Given the description of an element on the screen output the (x, y) to click on. 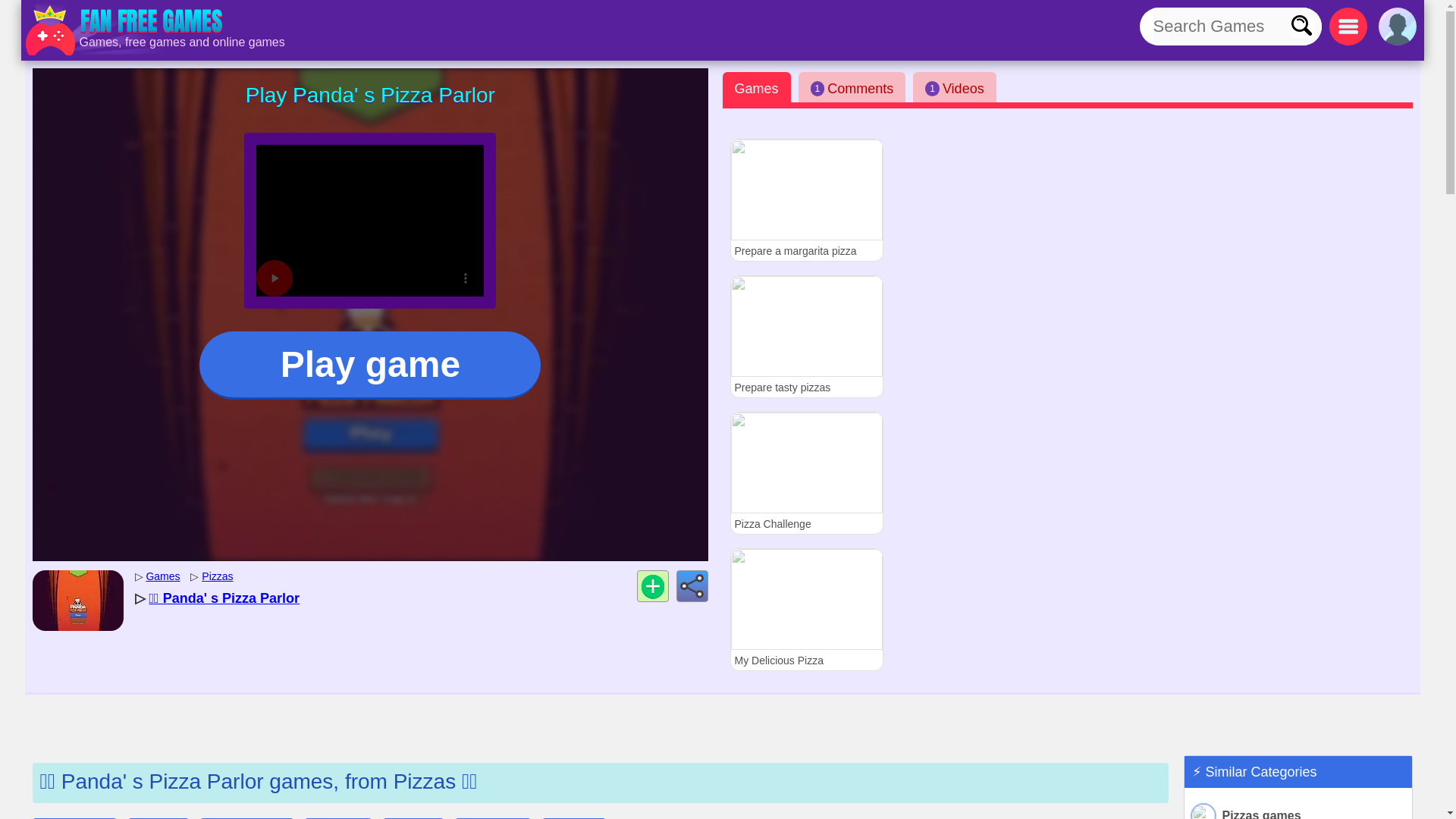
Panda' s Pizza Parlor (224, 598)
Games (756, 87)
Prepare tasty pizzas (805, 336)
Prepare a margarita pizza (805, 199)
Share (692, 585)
Free Pizzas games (217, 576)
Games, www.fanfreegames.com (126, 30)
Play game (369, 365)
